Given the description of an element on the screen output the (x, y) to click on. 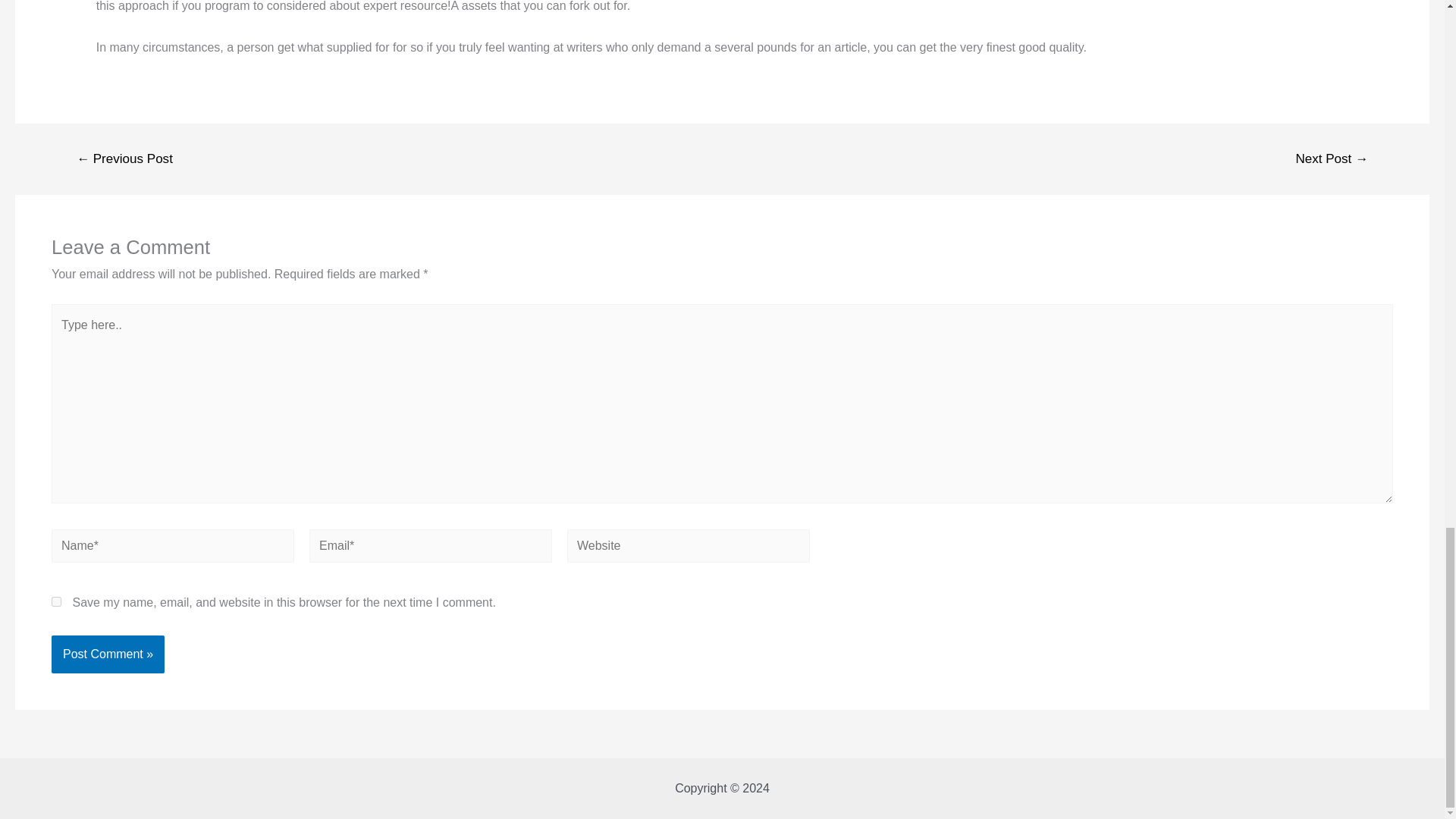
yes (55, 601)
